Given the description of an element on the screen output the (x, y) to click on. 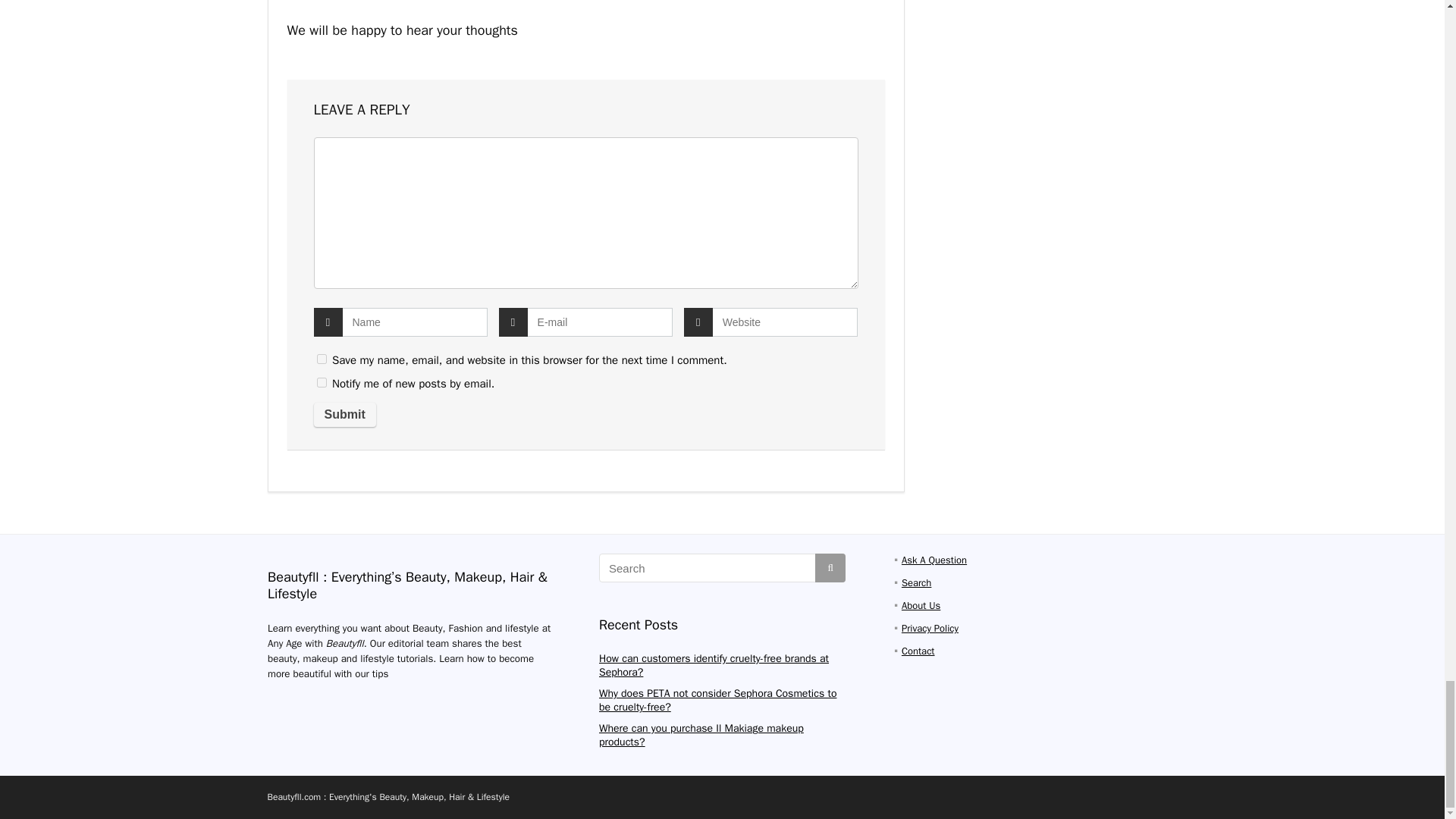
Submit (344, 414)
yes (321, 358)
Submit (344, 414)
subscribe (321, 382)
